Given the description of an element on the screen output the (x, y) to click on. 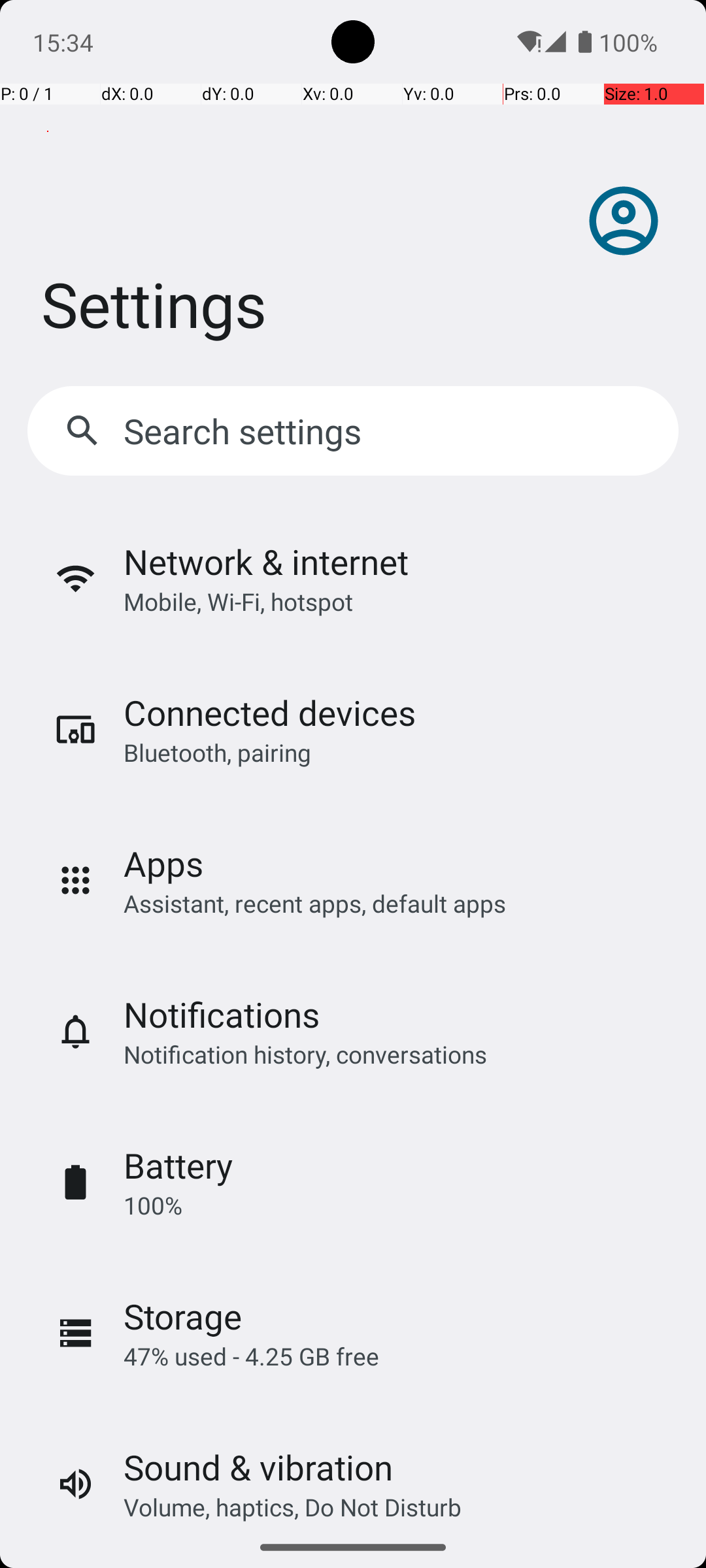
47% used - 4.25 GB free Element type: android.widget.TextView (251, 1355)
